Given the description of an element on the screen output the (x, y) to click on. 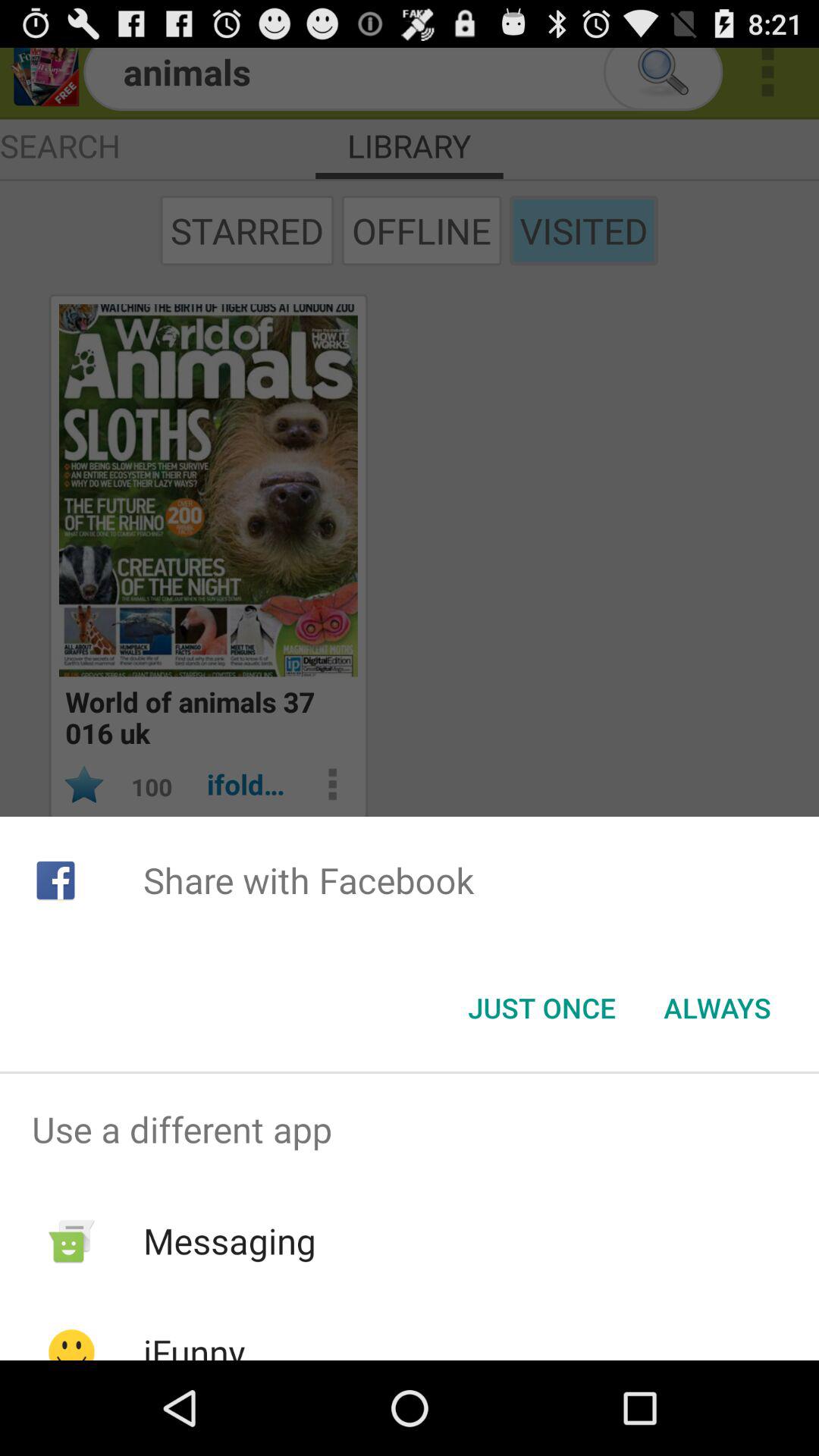
select the app below share with facebook (717, 1007)
